Given the description of an element on the screen output the (x, y) to click on. 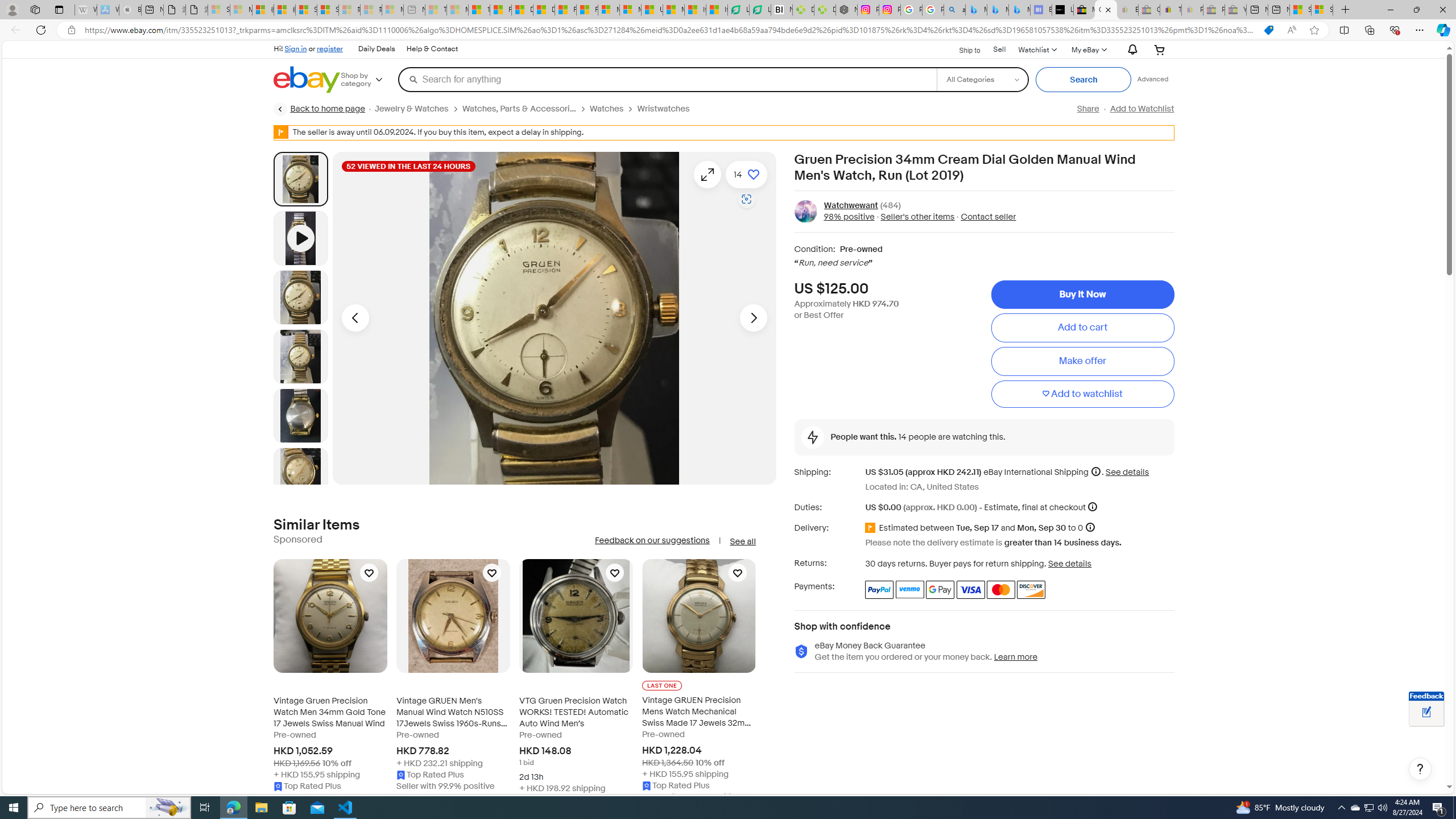
Top Stories - MSN - Sleeping (435, 9)
Help, opens dialogs (1420, 768)
Advanced Search (1152, 78)
Jewelry & Watches (418, 108)
Picture 2 of 13 (300, 297)
Your shopping cart (1159, 49)
Add to watchlist (1082, 394)
Buy It Now (1082, 294)
Jewelry & Watches (411, 108)
Microsoft Bing Travel - Flights from Hong Kong to Bangkok (975, 9)
